Given the description of an element on the screen output the (x, y) to click on. 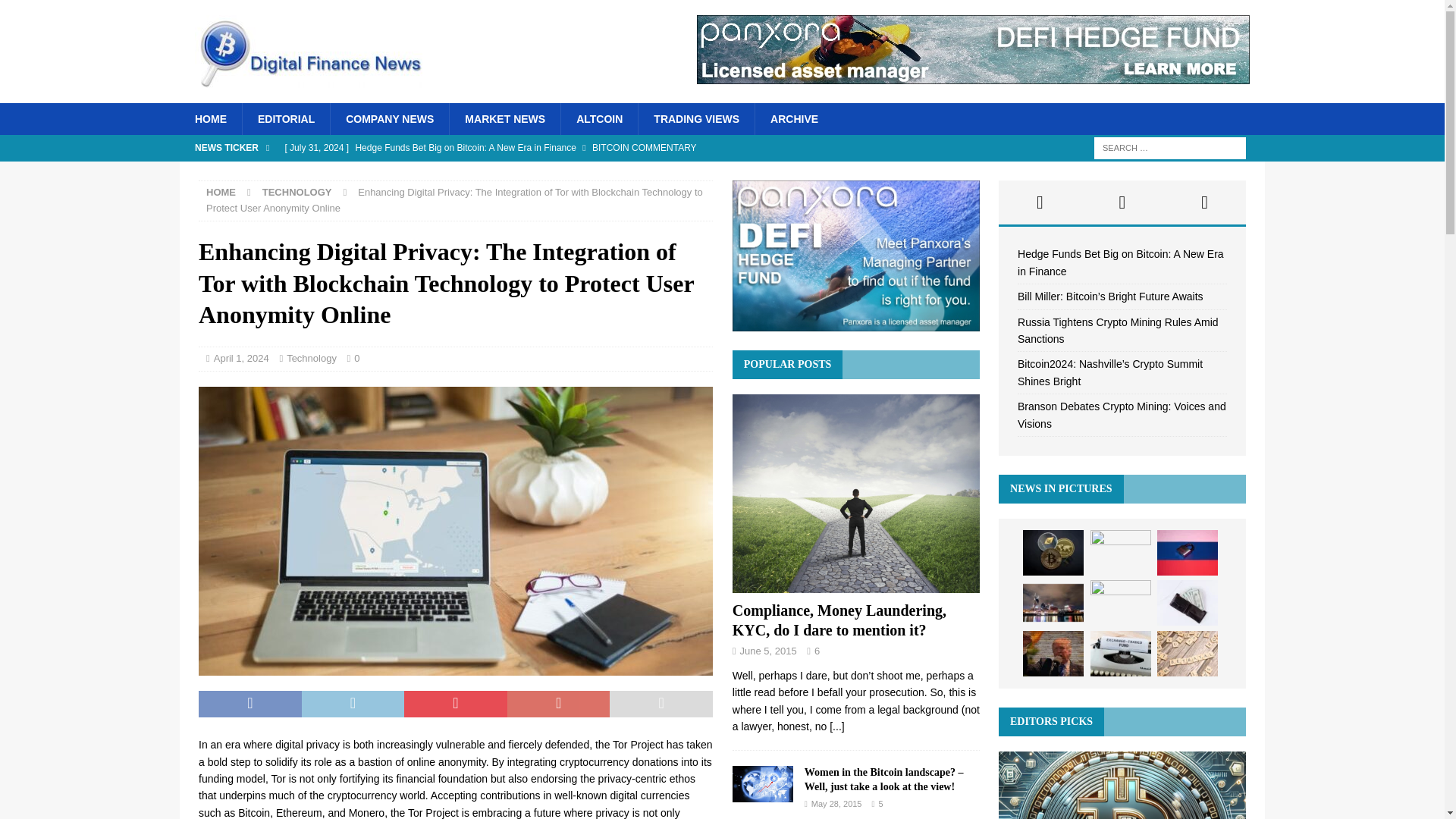
MARKET NEWS (504, 119)
EDITORIAL (285, 119)
TRADING VIEWS (695, 119)
HOME (210, 119)
Hedge Funds Bet Big on Bitcoin: A New Era in Finance (581, 147)
April 1, 2024 (241, 357)
COMPANY NEWS (389, 119)
Compliance, Money Laundering, KYC, do I dare to mention it? (839, 619)
Technology (311, 357)
June 5, 2015 (767, 650)
TECHNOLOGY (296, 192)
HOME (220, 192)
ARCHIVE (793, 119)
ALTCOIN (598, 119)
